Given the description of an element on the screen output the (x, y) to click on. 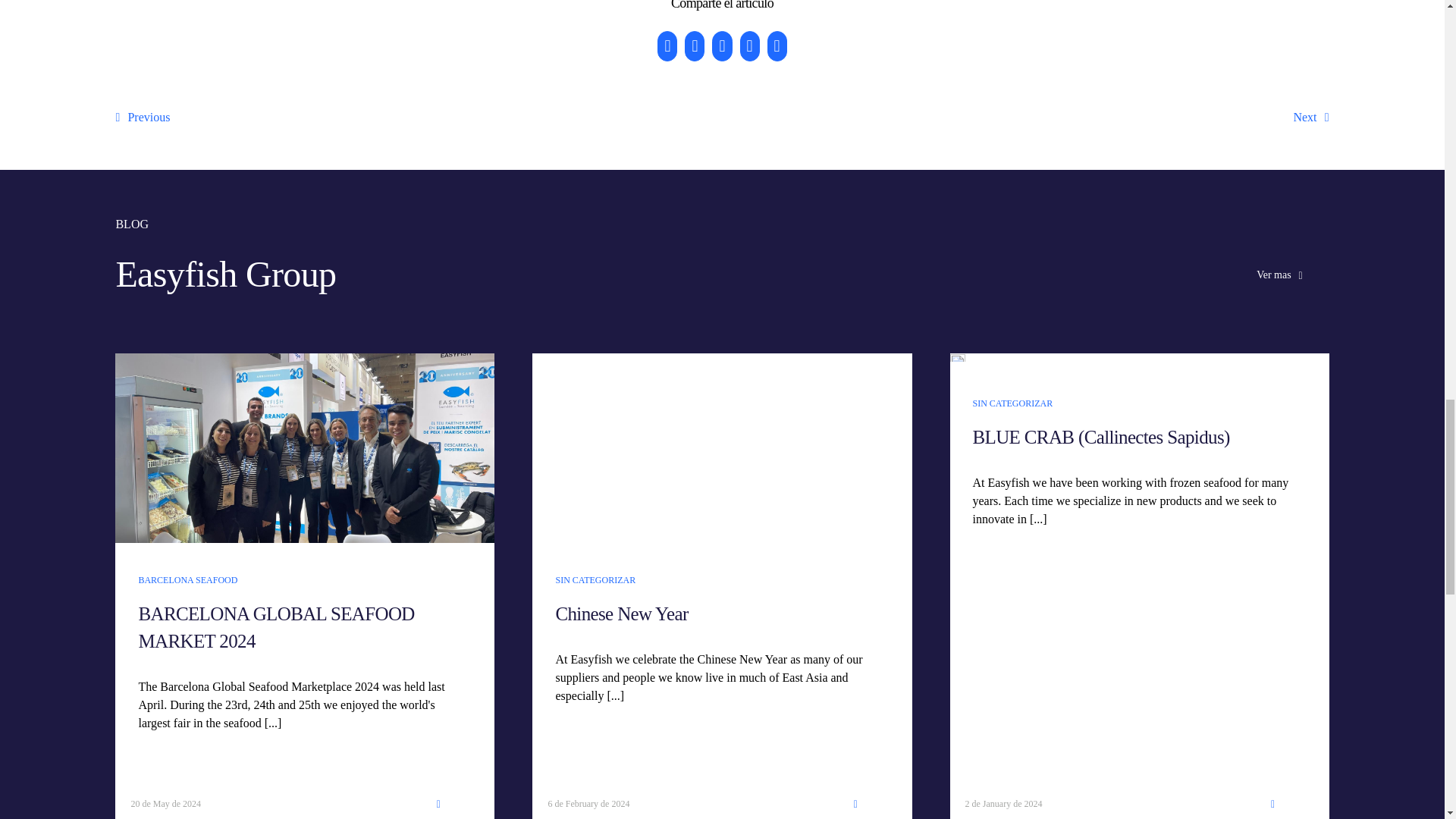
Sin categorizar (1012, 403)
BARCELONA SEAFOOD (187, 579)
Sin categorizar (594, 579)
